Given the description of an element on the screen output the (x, y) to click on. 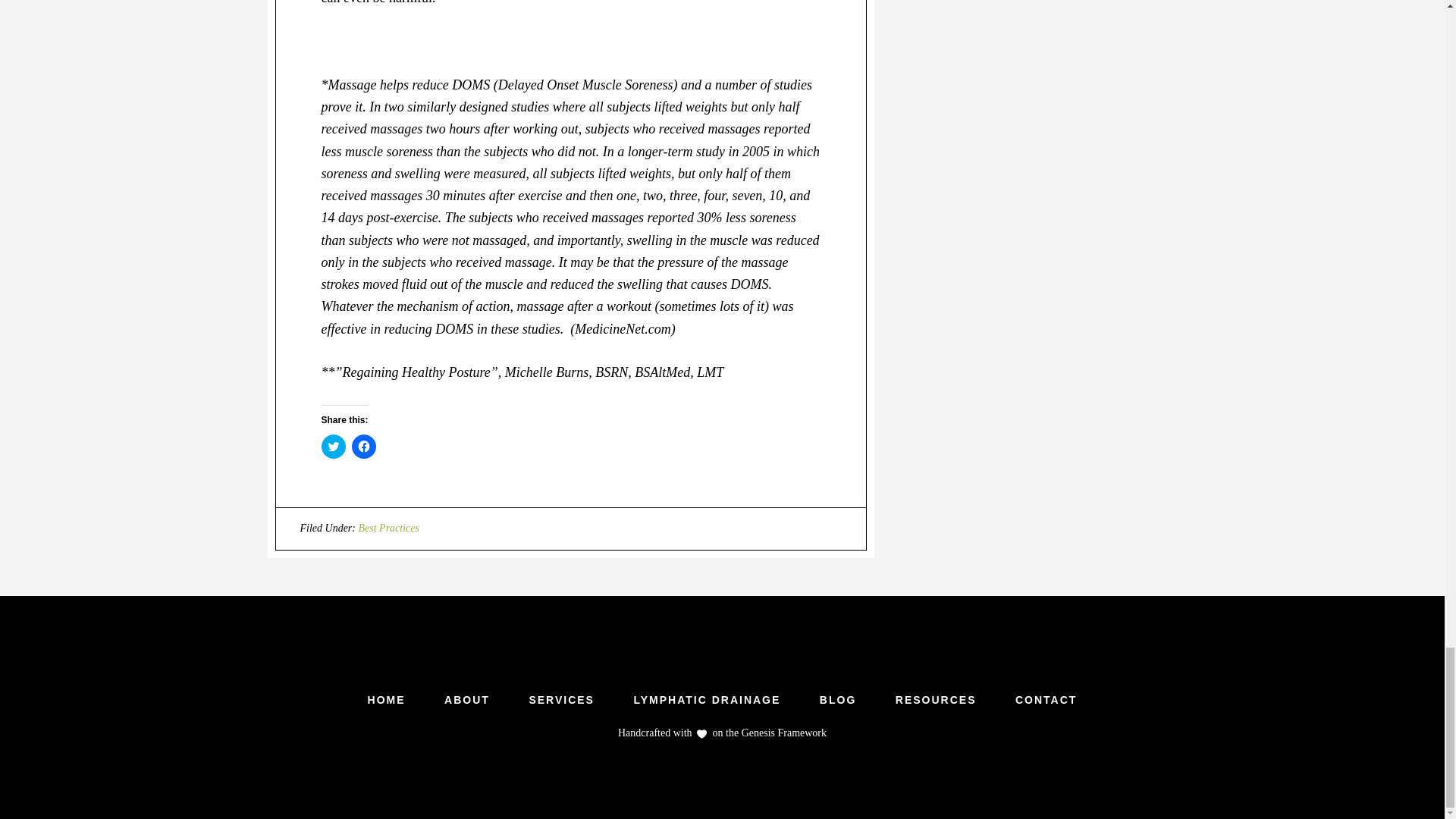
BLOG (838, 699)
HOME (386, 699)
SERVICES (561, 699)
ABOUT (467, 699)
RESOURCES (935, 699)
Genesis Framework (782, 732)
Click to share on Twitter (333, 446)
CONTACT (1045, 699)
LYMPHATIC DRAINAGE (705, 699)
Click to share on Facebook (363, 446)
